Given the description of an element on the screen output the (x, y) to click on. 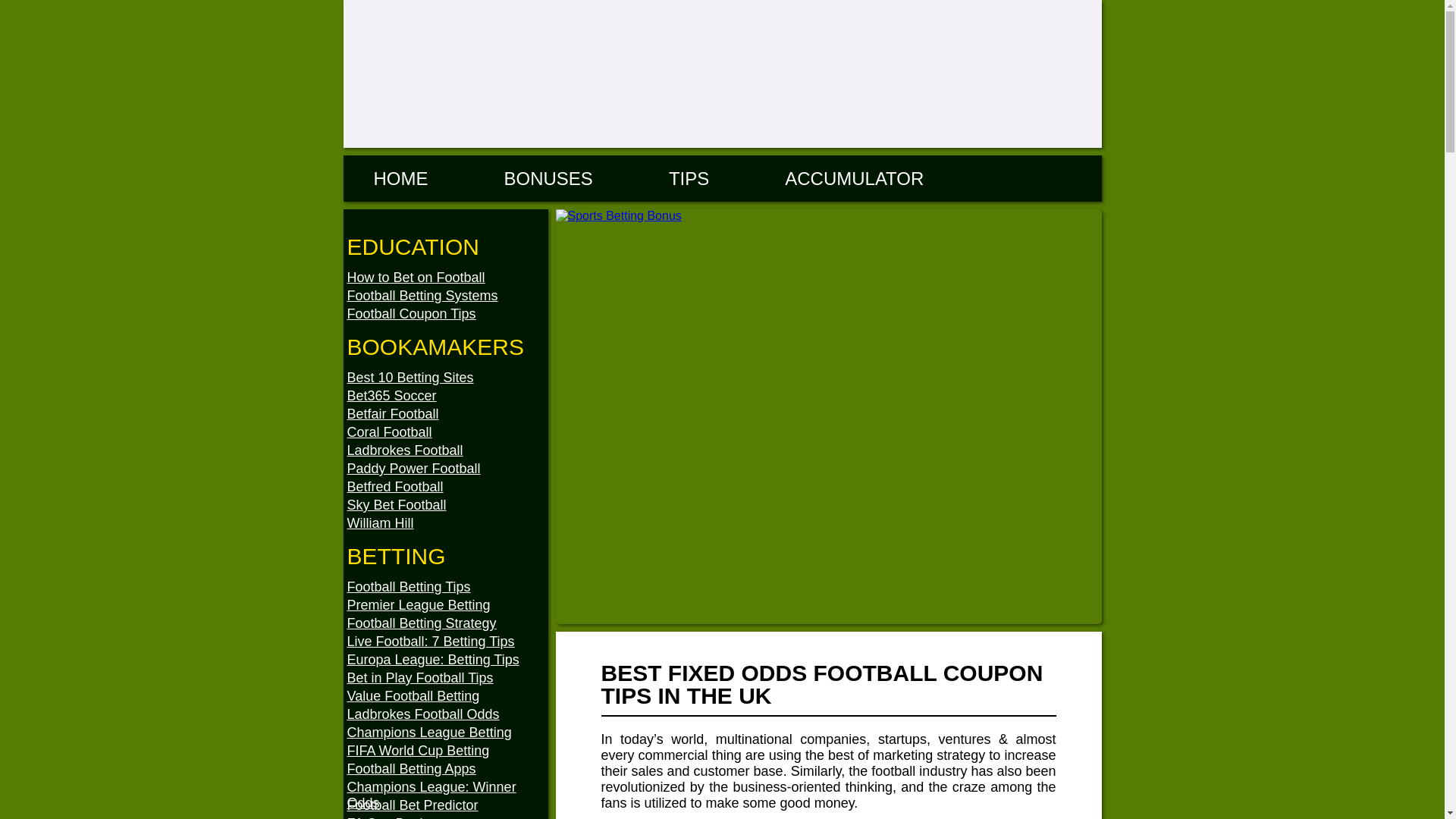
How to Bet on Football (447, 277)
Paddy Power Football (447, 468)
Betfred Football (447, 486)
FA Cup Betting (447, 815)
ACCUMULATOR (853, 178)
Live Football: 7 Betting Tips (447, 641)
Best Football Accumulator Tips (853, 178)
Bet365 Soccer (447, 395)
Bet in Play Football Tips (447, 678)
Free Football Betting Systems that Work (447, 295)
Betfred Football Betting Rules (447, 486)
Football Betting Systems (447, 295)
Football Betting Apps (447, 769)
Betting Betfair Football Tips (447, 413)
William Hill (447, 523)
